Given the description of an element on the screen output the (x, y) to click on. 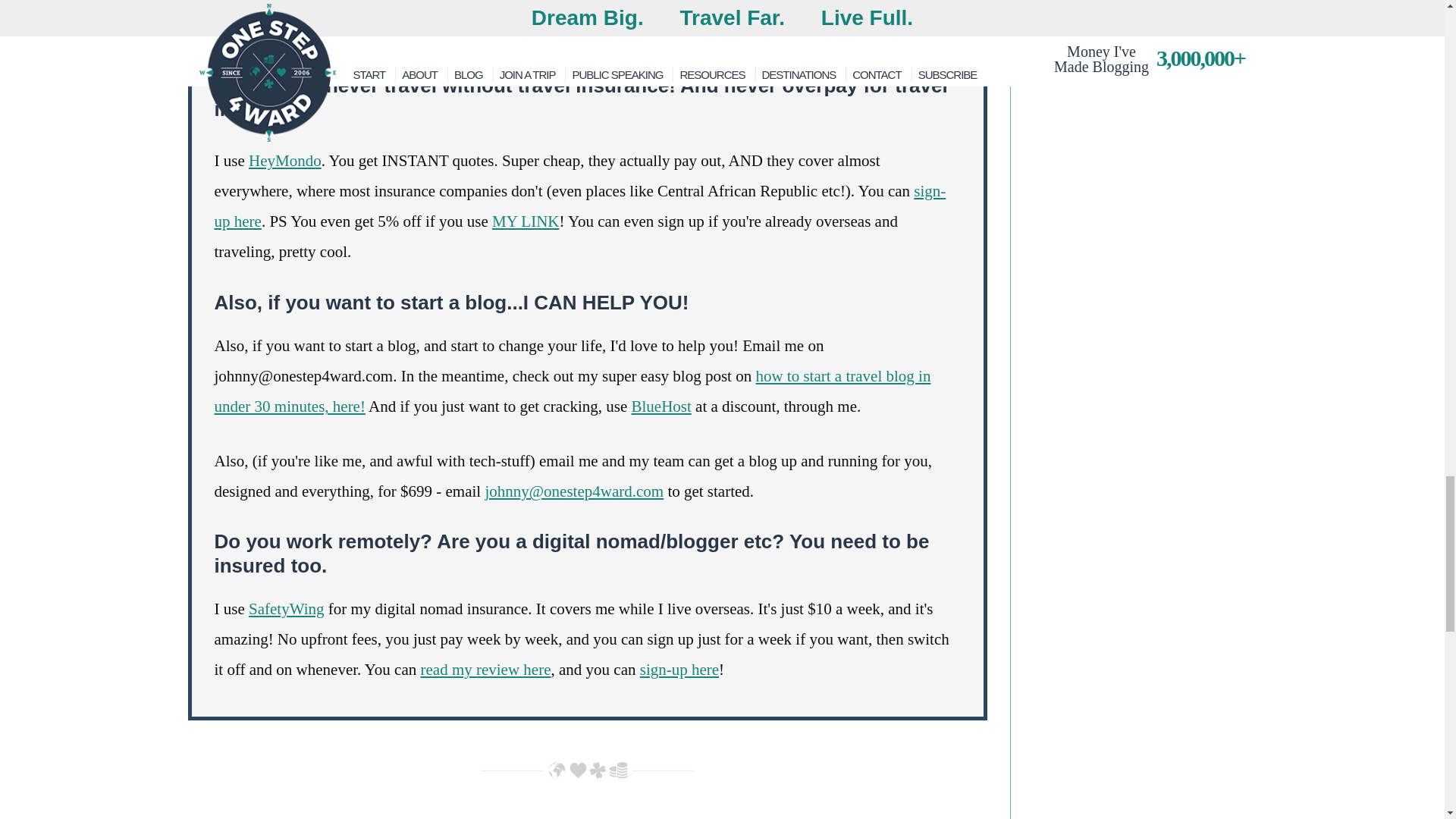
sign-up here (679, 669)
how to start a travel blog in under 30 minutes, here! (572, 390)
HeyMondo (284, 160)
BlueHost (660, 406)
SafetyWing (285, 608)
sign-up here (579, 205)
MY LINK (525, 221)
read my review here (485, 669)
